Given the description of an element on the screen output the (x, y) to click on. 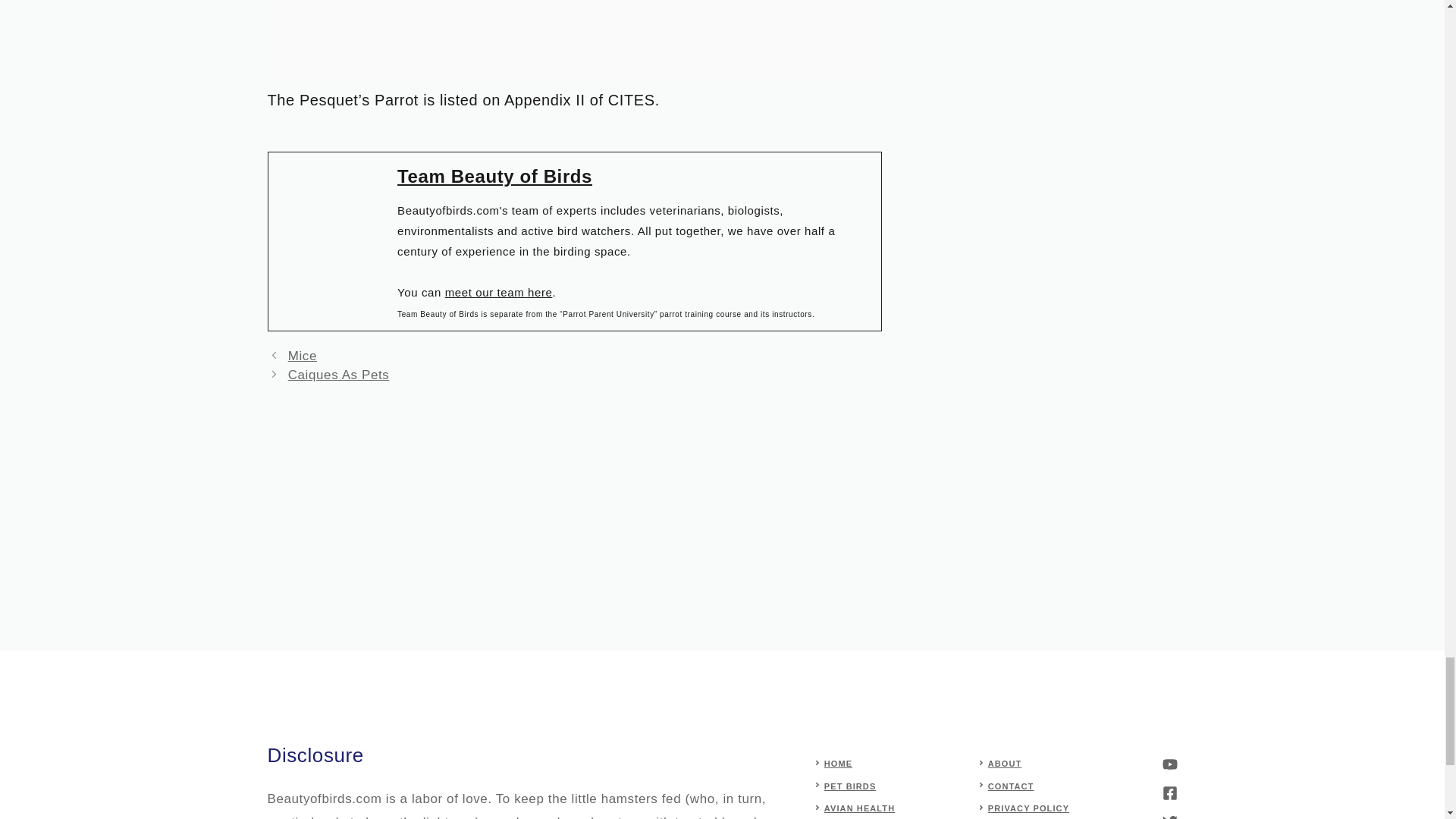
Mice (302, 355)
CONTACT (1010, 786)
ABOUT (1005, 763)
PRIVACY POLICY (1028, 808)
HOME (837, 763)
Team Beauty of Birds (494, 176)
Caiques As Pets (339, 374)
AVIAN HEALTH (859, 808)
PET BIRDS (850, 786)
meet our team here (499, 291)
